Given the description of an element on the screen output the (x, y) to click on. 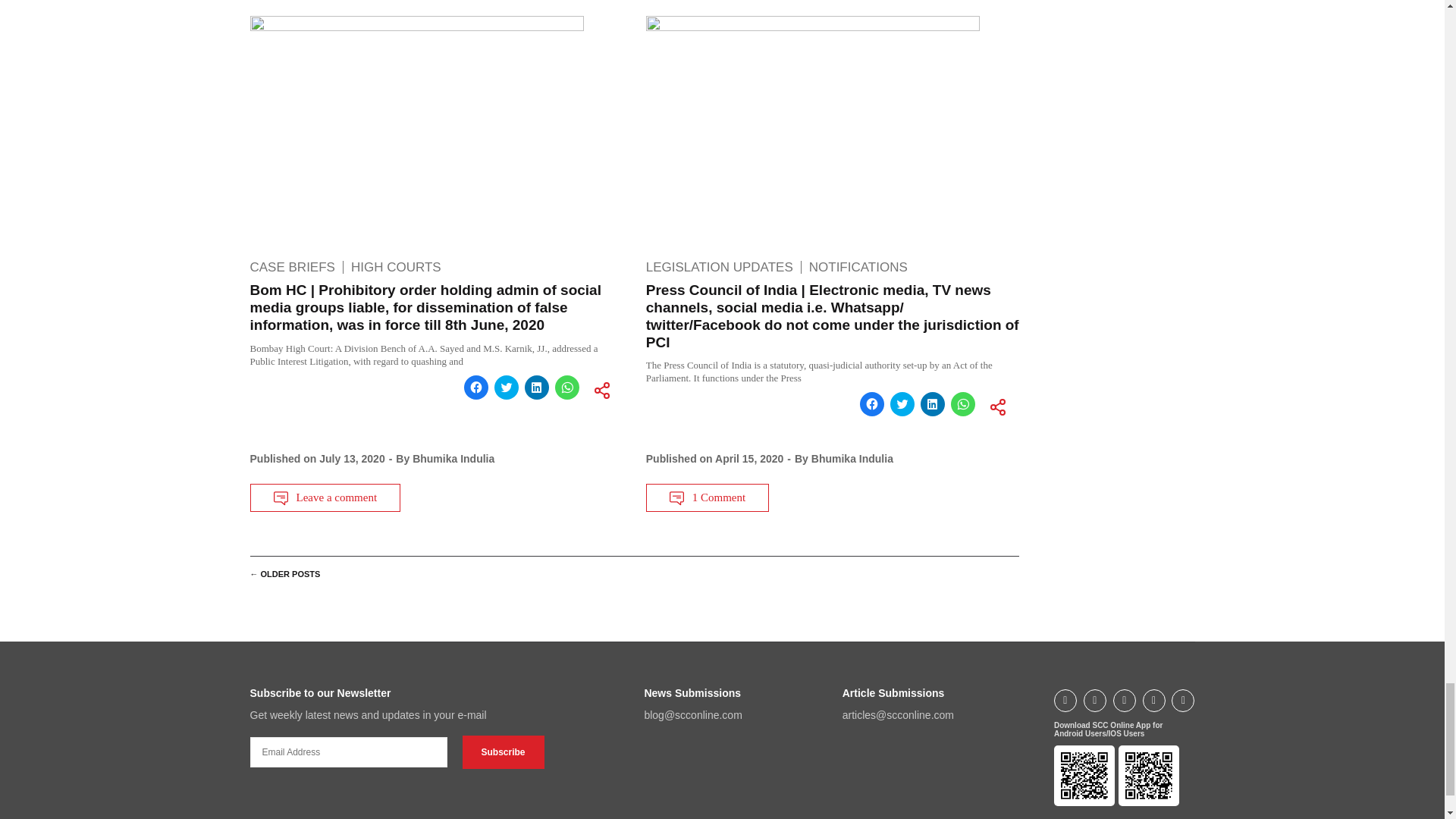
Subscribe (503, 752)
